Given the description of an element on the screen output the (x, y) to click on. 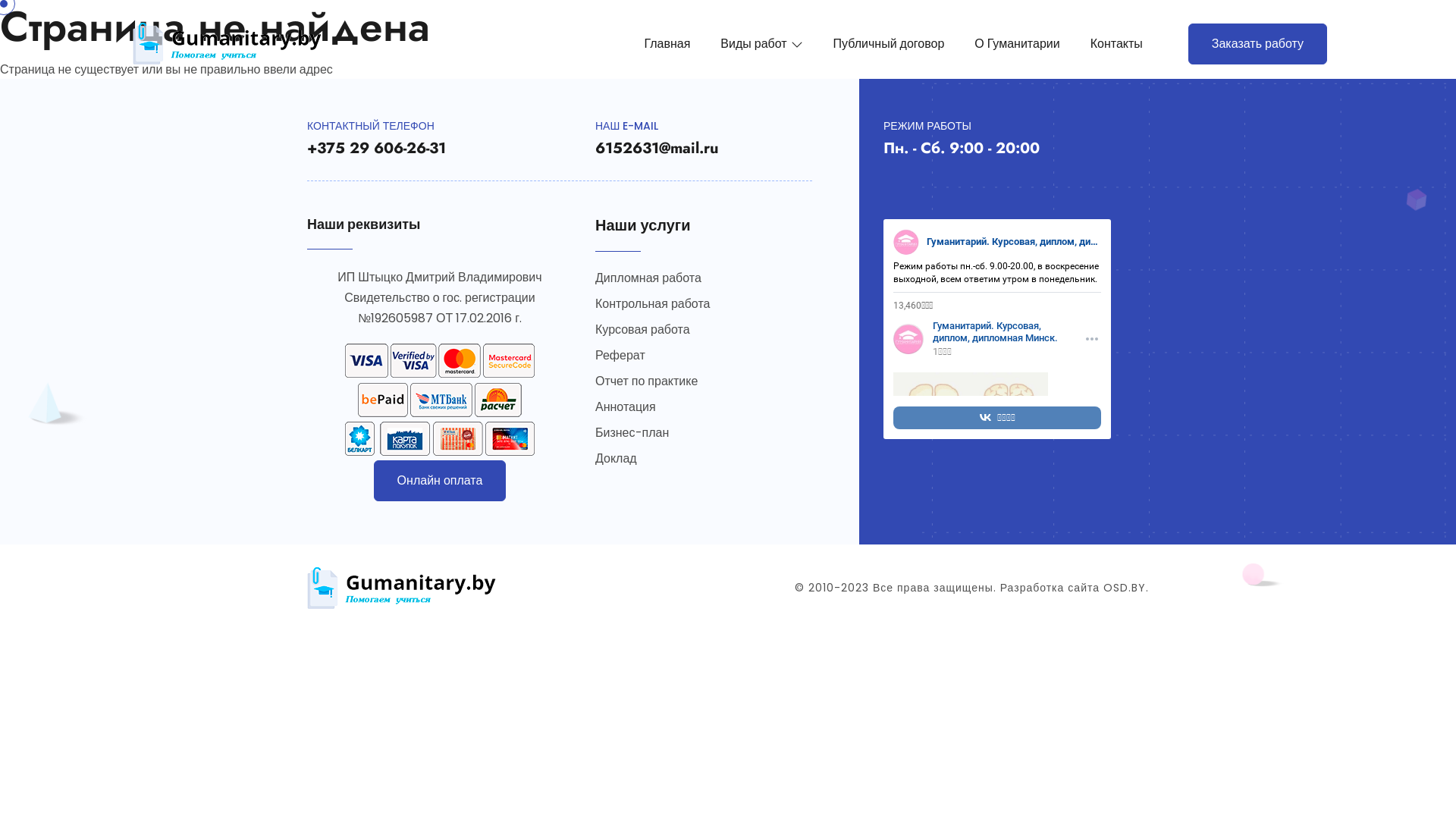
OSD.BY Element type: text (1124, 588)
+375 29 606-26-31 Element type: text (376, 147)
6152631@mail.ru Element type: text (656, 147)
